Given the description of an element on the screen output the (x, y) to click on. 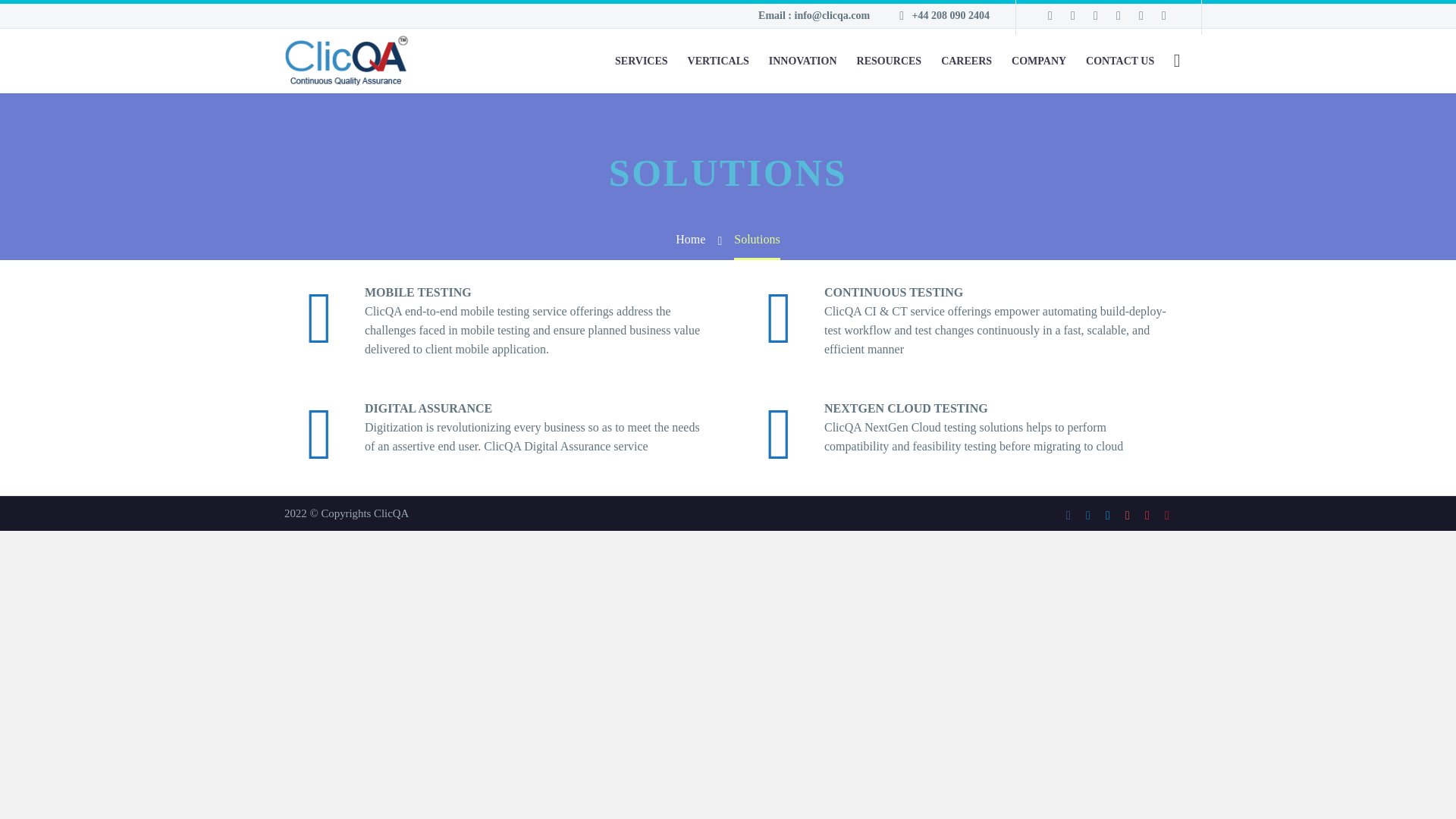
YouTube (1163, 15)
Pinterest (1117, 15)
YouTube (1166, 515)
INNOVATION (802, 60)
LinkedIn (1072, 15)
Facebook (1068, 515)
Pinterest (1127, 515)
Google Plus (1141, 15)
VERTICALS (718, 60)
Facebook (1050, 15)
LinkedIn (1087, 515)
Google Plus (1147, 515)
SERVICES (641, 60)
Twitter (1107, 515)
Twitter (1095, 15)
